Given the description of an element on the screen output the (x, y) to click on. 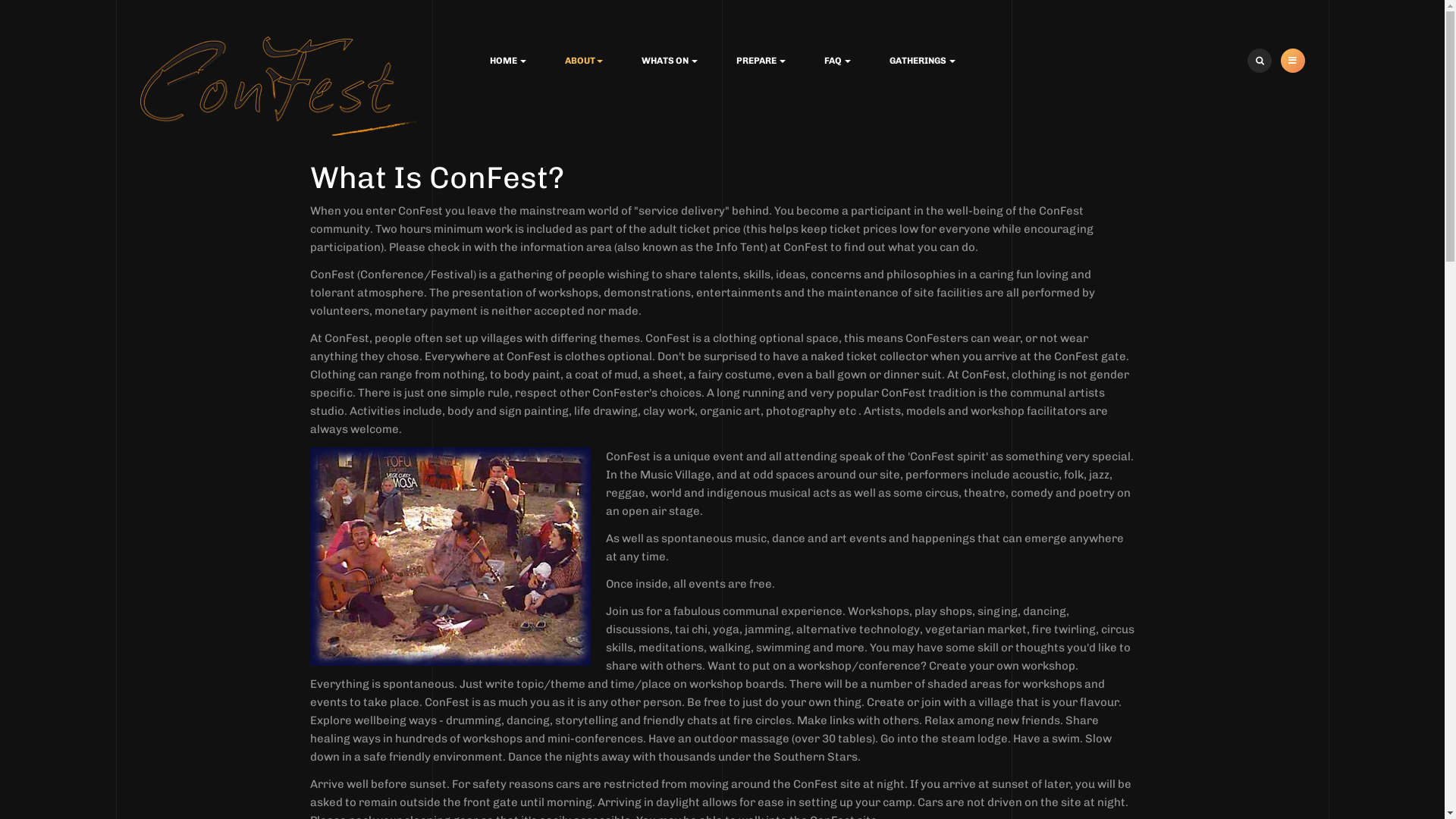
PREPARE Element type: text (760, 60)
HOME Element type: text (507, 60)
ConFest Element type: hover (278, 85)
What Is ConFest? Element type: text (436, 177)
FAQ Element type: text (836, 60)
WHATS ON Element type: text (669, 60)
GATHERINGS Element type: text (921, 60)
